Given the description of an element on the screen output the (x, y) to click on. 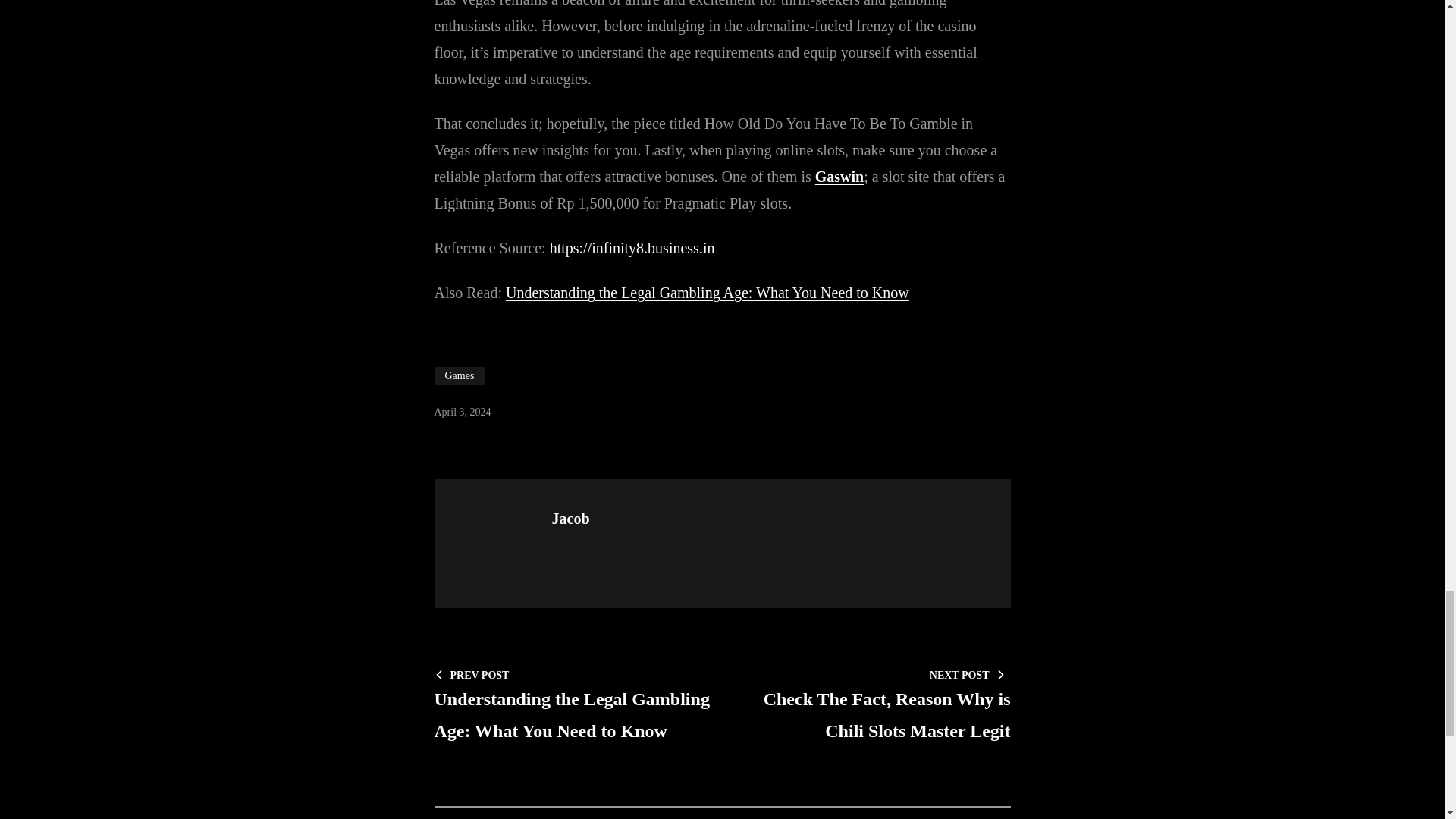
April 3, 2024 (461, 411)
Games (458, 375)
Understanding the Legal Gambling Age: What You Need to Know (706, 292)
Gaswin (839, 176)
